Given the description of an element on the screen output the (x, y) to click on. 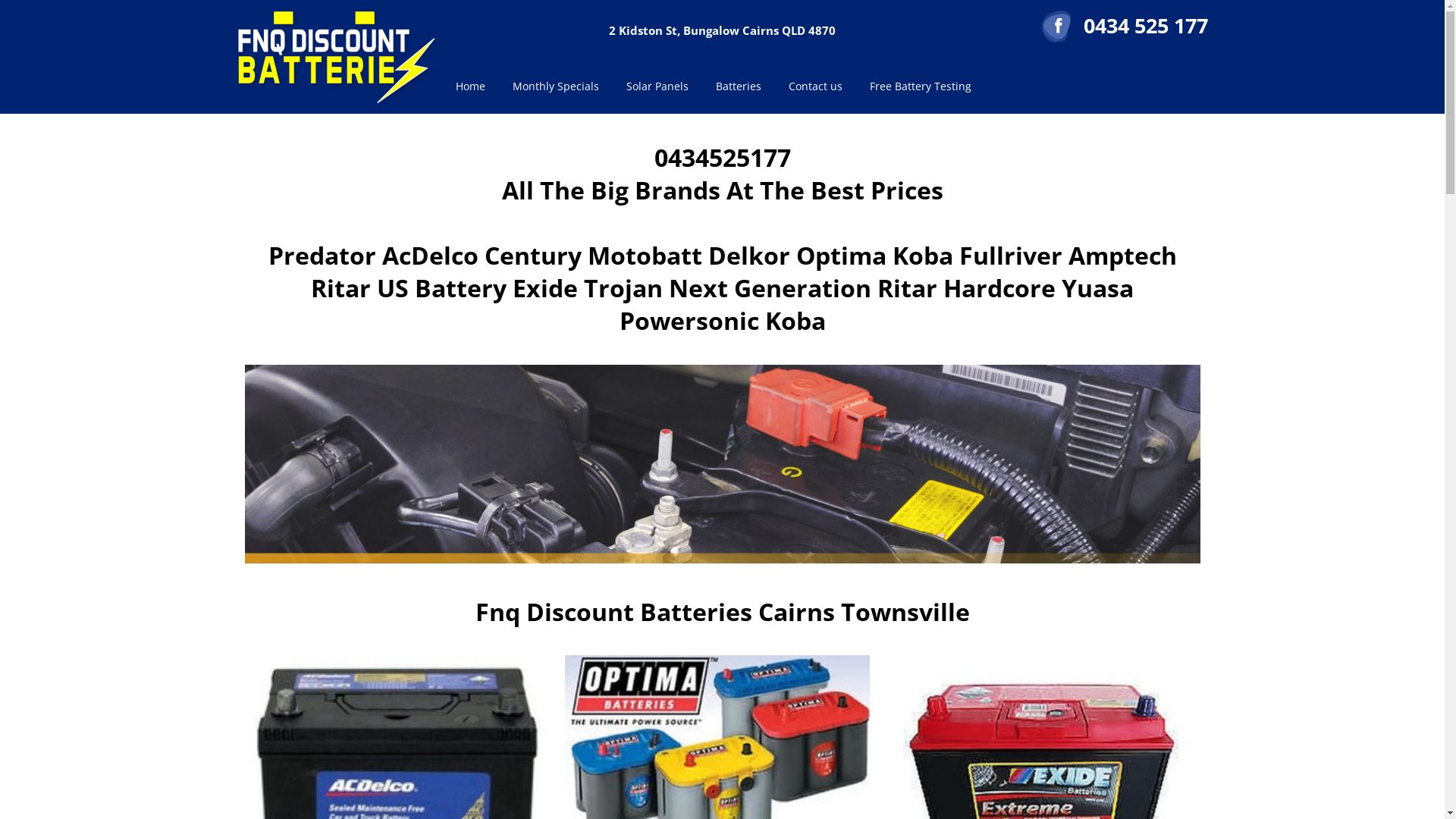
Solar Panels Element type: text (657, 85)
Batteries Element type: text (738, 85)
0434 525 177 Element type: text (1144, 25)
Contact us Element type: text (815, 85)
2 Kidston St, Bungalow Cairns QLD 4870 Element type: text (721, 30)
Home Element type: text (469, 85)
Monthly Specials Element type: text (555, 85)
Free Battery Testing Element type: text (919, 85)
